Given the description of an element on the screen output the (x, y) to click on. 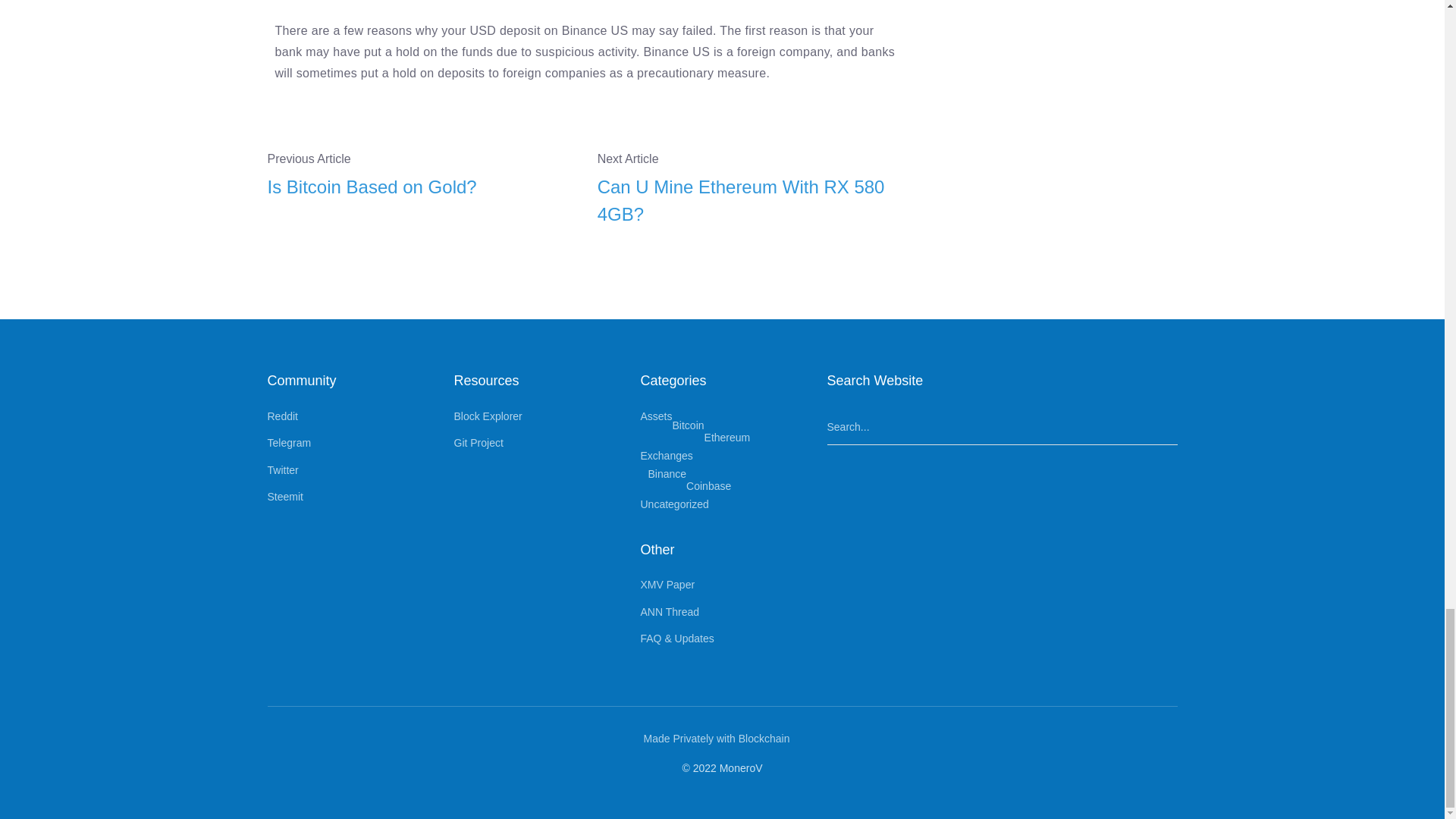
Is Bitcoin Based on Gold? (419, 186)
Search... (1001, 427)
Search... (1001, 427)
Can U Mine Ethereum With RX 580 4GB? (750, 200)
